Given the description of an element on the screen output the (x, y) to click on. 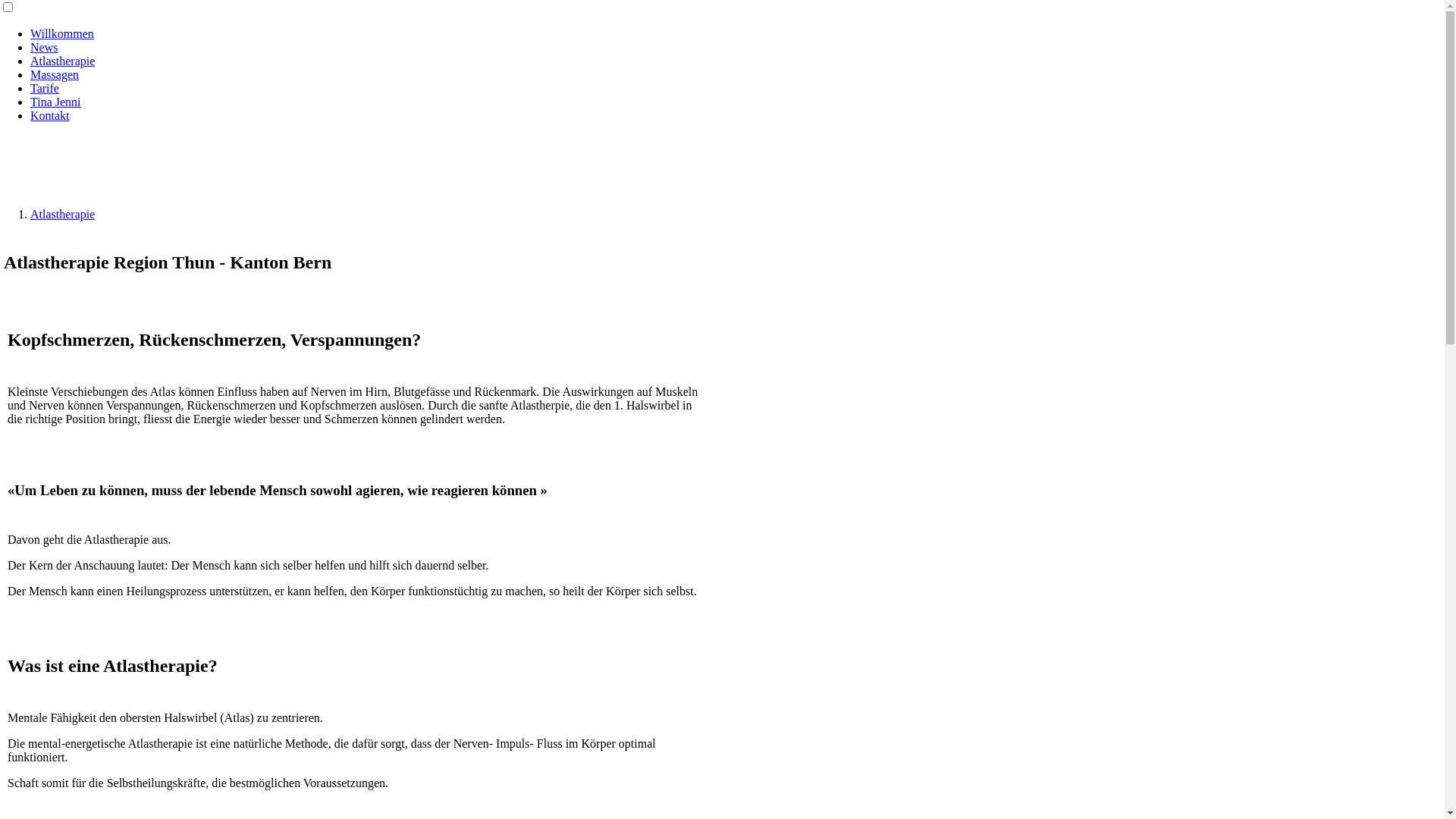
Willkommen Element type: text (62, 33)
Tina Jenni Element type: text (55, 101)
Atlastherapie Element type: text (62, 213)
Kontakt Element type: text (49, 115)
News Element type: text (43, 46)
Atlastherapie Element type: text (62, 60)
Massagen Element type: text (54, 74)
Tarife Element type: text (44, 87)
